Given the description of an element on the screen output the (x, y) to click on. 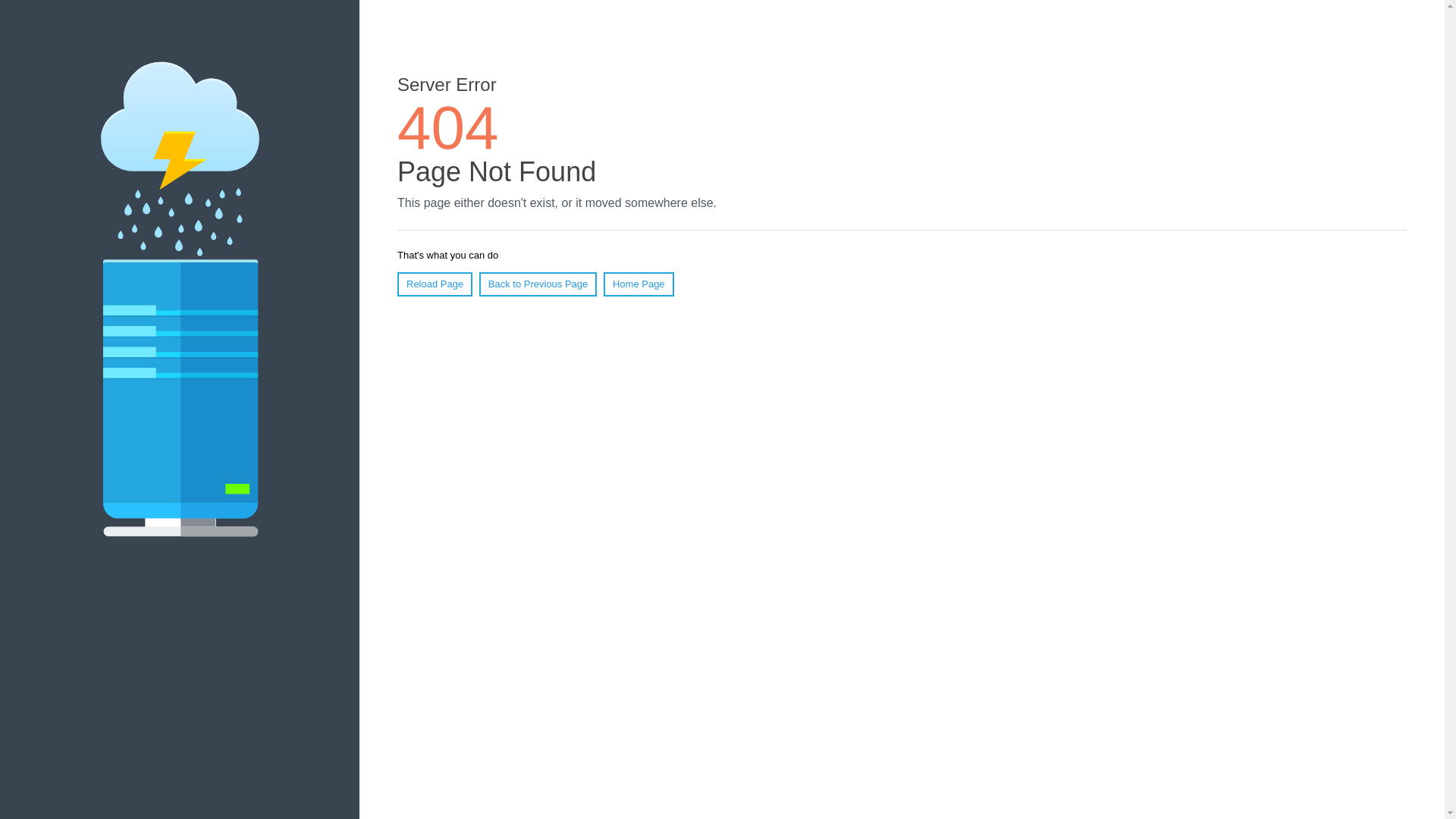
Reload Page Element type: text (434, 284)
Back to Previous Page Element type: text (538, 284)
Home Page Element type: text (638, 284)
